Given the description of an element on the screen output the (x, y) to click on. 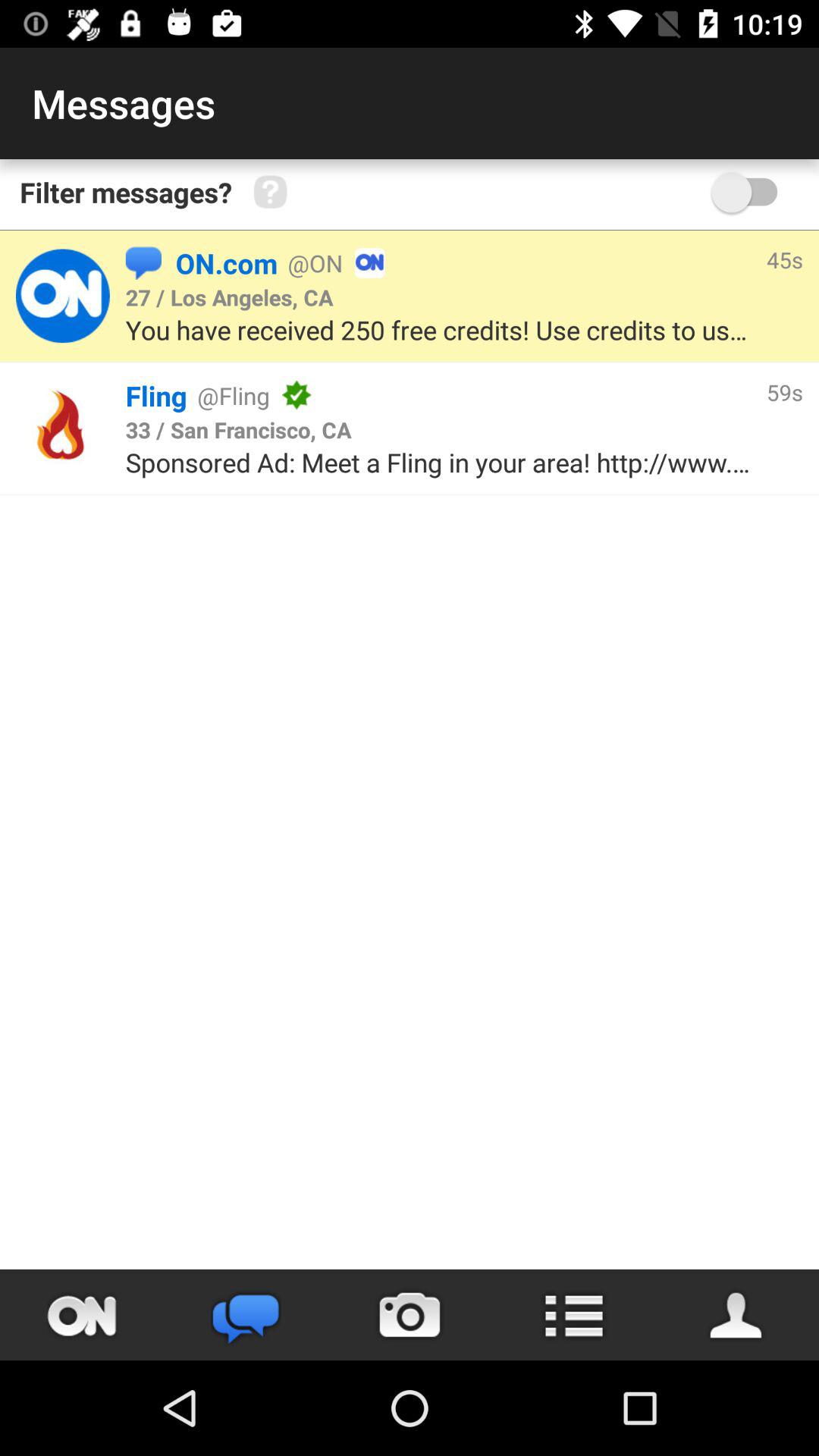
choose item next to the 59s icon (531, 395)
